Given the description of an element on the screen output the (x, y) to click on. 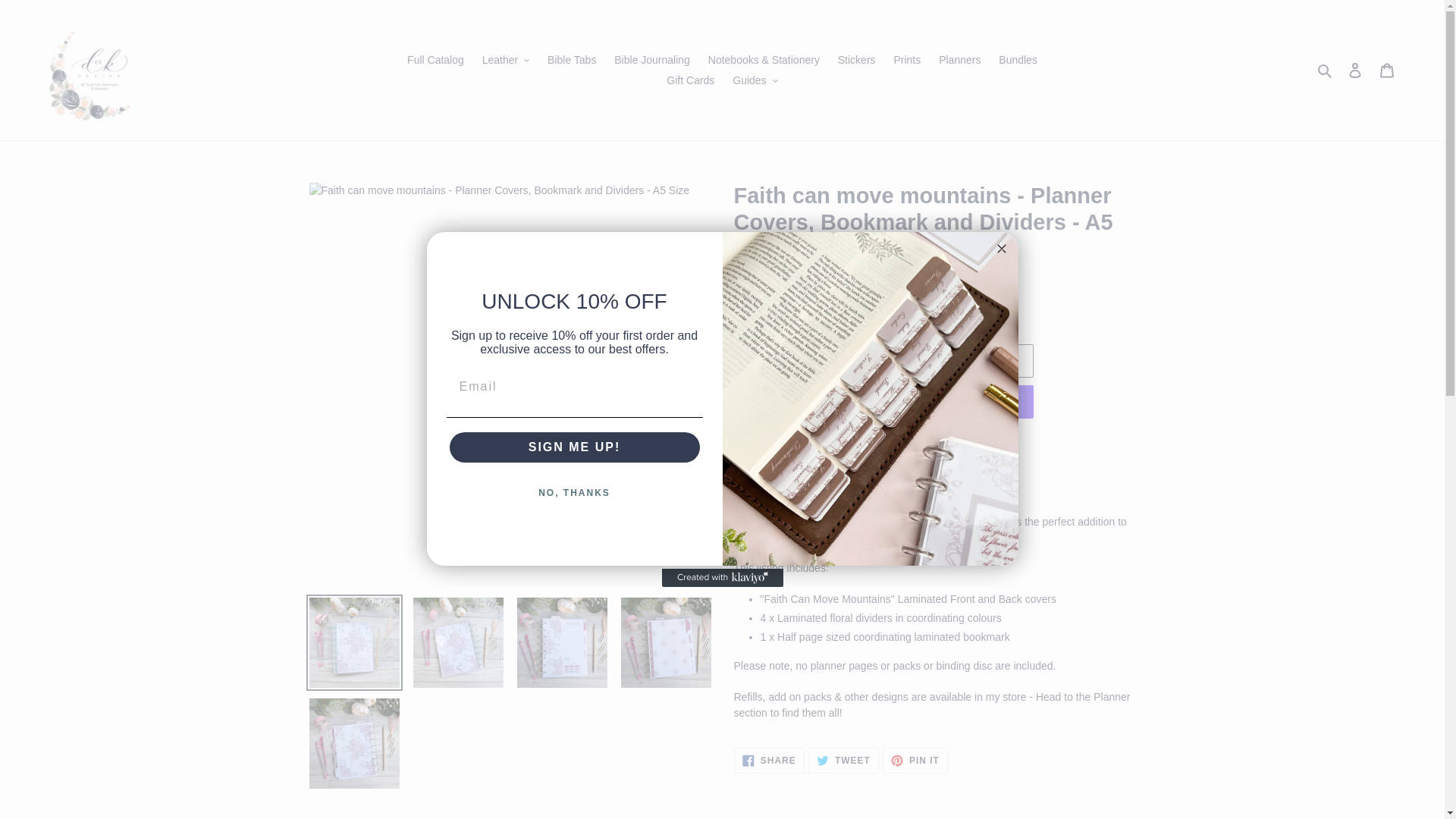
Full Catalog (434, 59)
Stickers (856, 59)
Guides (754, 79)
Planners (959, 59)
Bible Journaling (652, 59)
Cart (1387, 69)
Search (1326, 69)
Gift Cards (690, 79)
Bundles (1018, 59)
Prints (906, 59)
Bible Tabs (572, 59)
Log in (1355, 69)
Leather (505, 59)
